Given the description of an element on the screen output the (x, y) to click on. 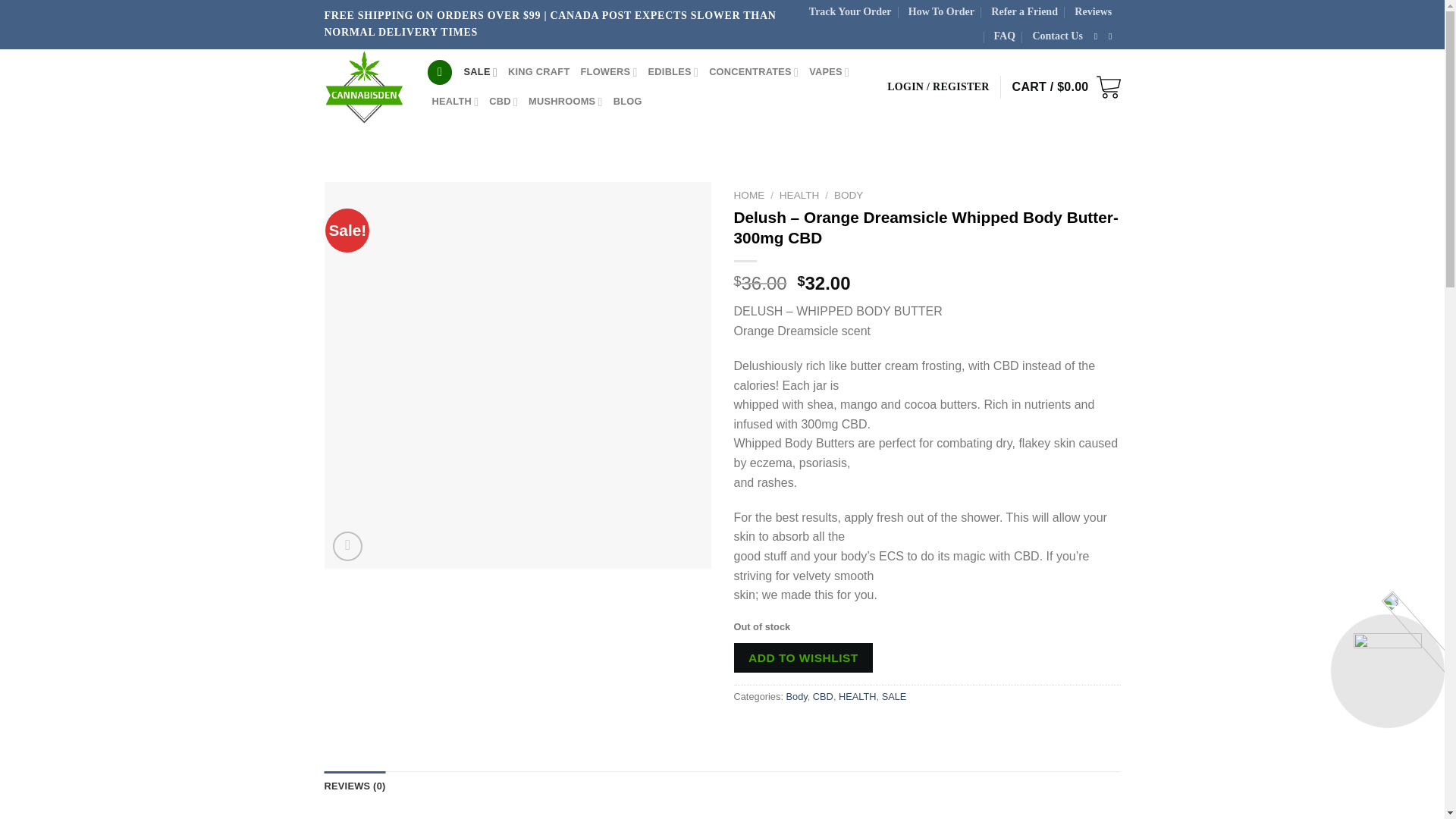
How To Order (941, 12)
Reviews (1093, 12)
Track Your Order (850, 12)
FAQ (1005, 36)
Refer a Friend (1024, 12)
EDIBLES (672, 71)
KING CRAFT (538, 71)
FLOWERS (608, 71)
Contact Us (1057, 36)
